Given the description of an element on the screen output the (x, y) to click on. 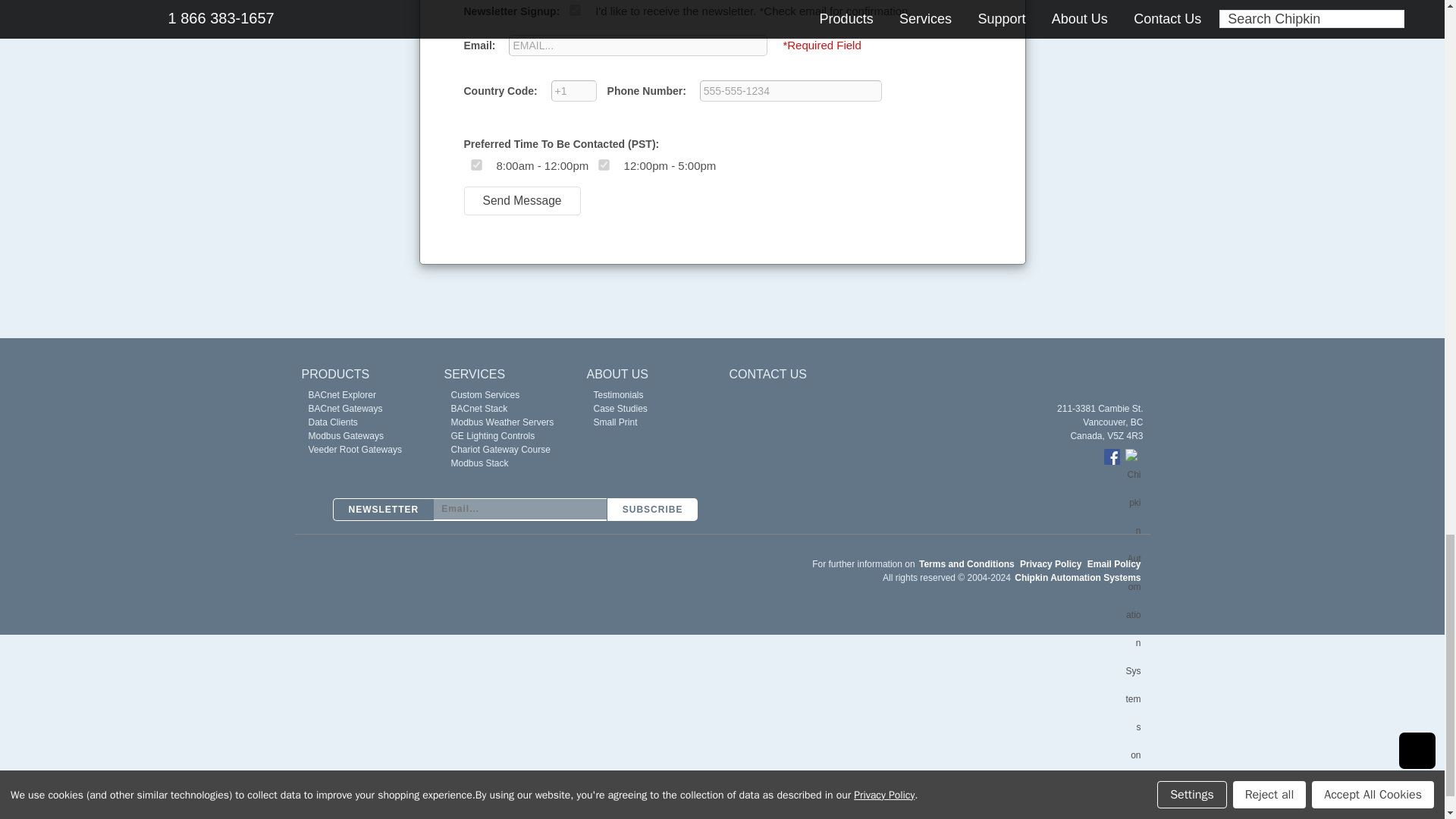
12:00pm - 5:00pm (603, 163)
Subscribe (652, 508)
on (574, 9)
8:00am - 12:00pm (475, 163)
